Given the description of an element on the screen output the (x, y) to click on. 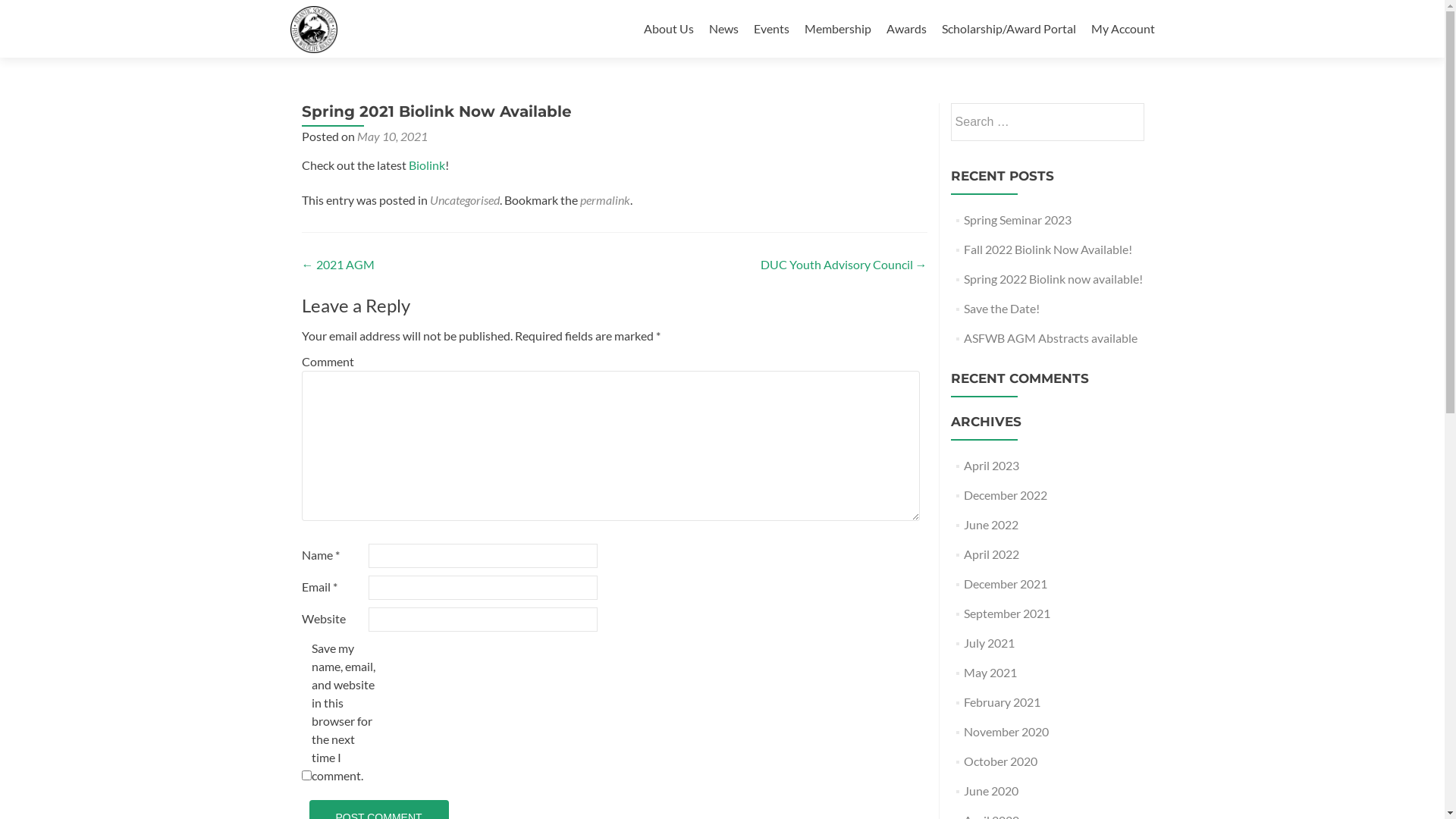
Spring 2022 Biolink now available! Element type: text (1052, 278)
October 2020 Element type: text (1000, 760)
Fall 2022 Biolink Now Available! Element type: text (1047, 248)
April 2022 Element type: text (991, 553)
Search Element type: text (1125, 120)
Events Element type: text (771, 28)
Save the Date! Element type: text (1001, 308)
Biolink Element type: text (425, 164)
Awards Element type: text (905, 28)
June 2020 Element type: text (990, 790)
permalink Element type: text (604, 199)
May 2021 Element type: text (989, 672)
February 2021 Element type: text (1001, 701)
My Account Element type: text (1122, 28)
Skip to content Element type: text (643, 0)
November 2020 Element type: text (1005, 731)
December 2022 Element type: text (1005, 494)
Uncategorised Element type: text (463, 199)
December 2021 Element type: text (1005, 583)
April 2023 Element type: text (991, 465)
July 2021 Element type: text (988, 642)
Spring Seminar 2023 Element type: text (1017, 219)
News Element type: text (722, 28)
ASFWB AGM Abstracts available Element type: text (1050, 337)
Membership Element type: text (836, 28)
June 2022 Element type: text (990, 524)
About Us Element type: text (668, 28)
Scholarship/Award Portal Element type: text (1008, 28)
September 2021 Element type: text (1006, 612)
May 10, 2021 Element type: text (391, 135)
